Given the description of an element on the screen output the (x, y) to click on. 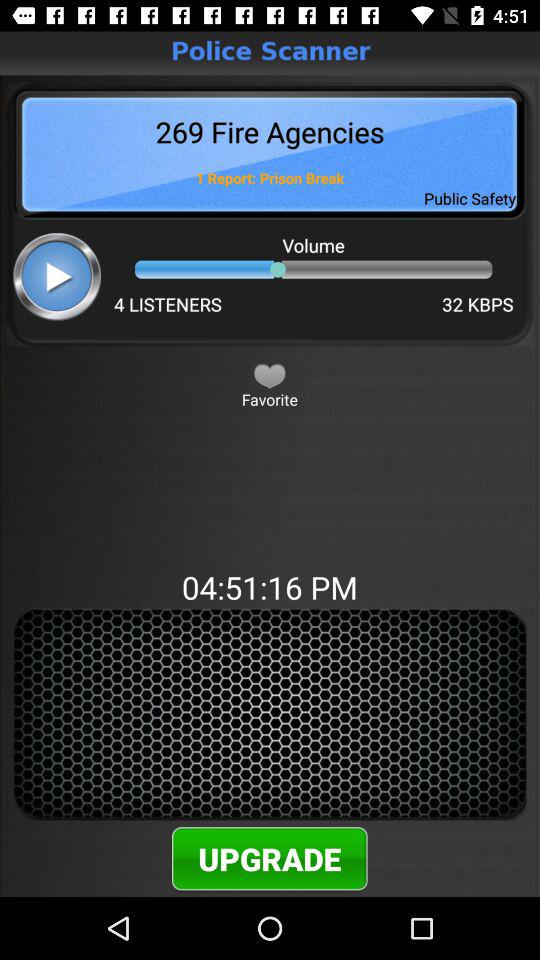
favorite button (269, 375)
